Given the description of an element on the screen output the (x, y) to click on. 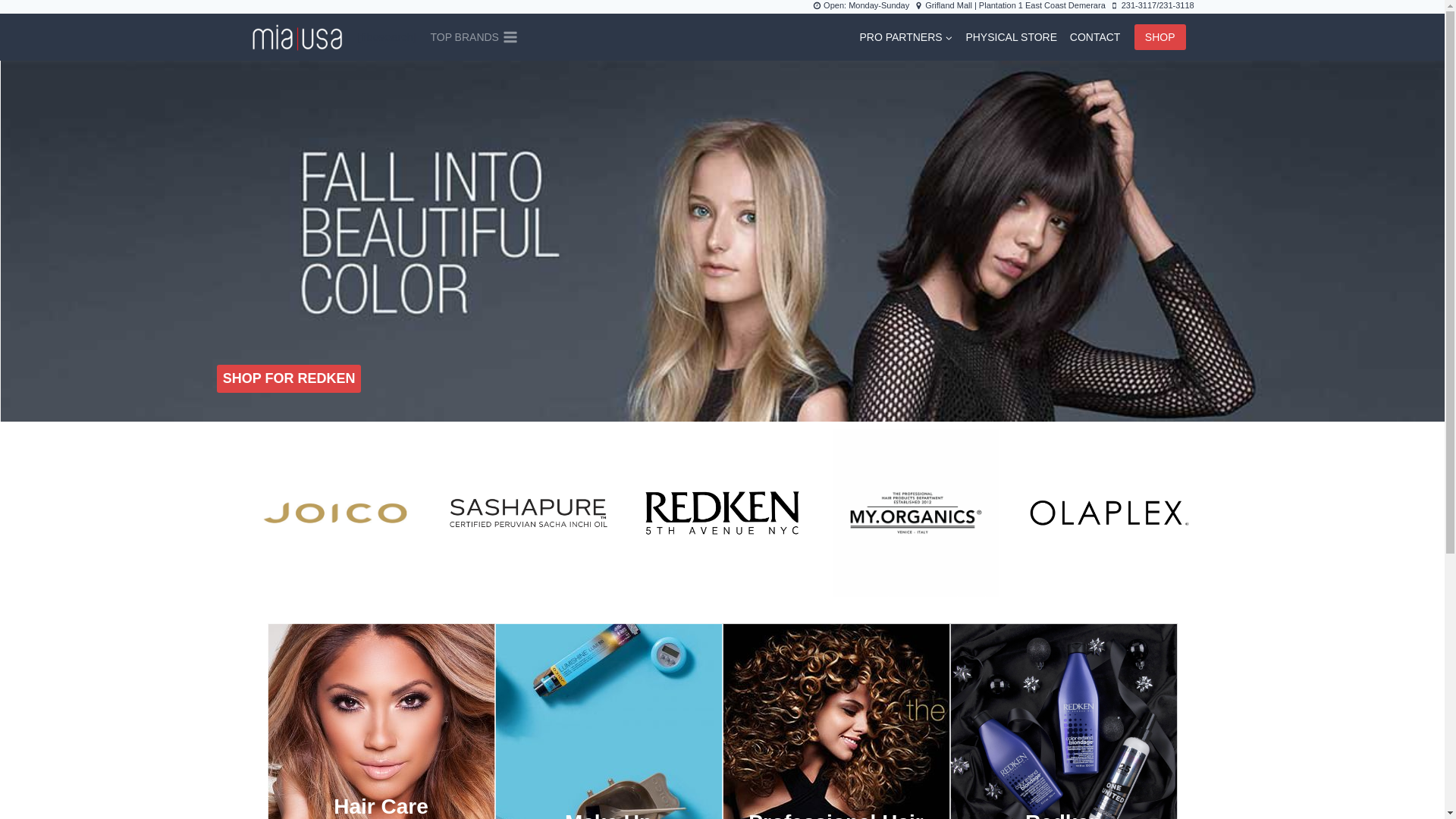
TOP BRANDS (473, 36)
PHYSICAL STORE (1010, 36)
PRO PARTNERS (906, 36)
Make Up (608, 721)
SHOP (1160, 36)
Redken (1062, 721)
CONTACT (1093, 36)
Professional Hair (835, 721)
Hair Care (380, 721)
SHOP FOR REDKEN (288, 378)
